Given the description of an element on the screen output the (x, y) to click on. 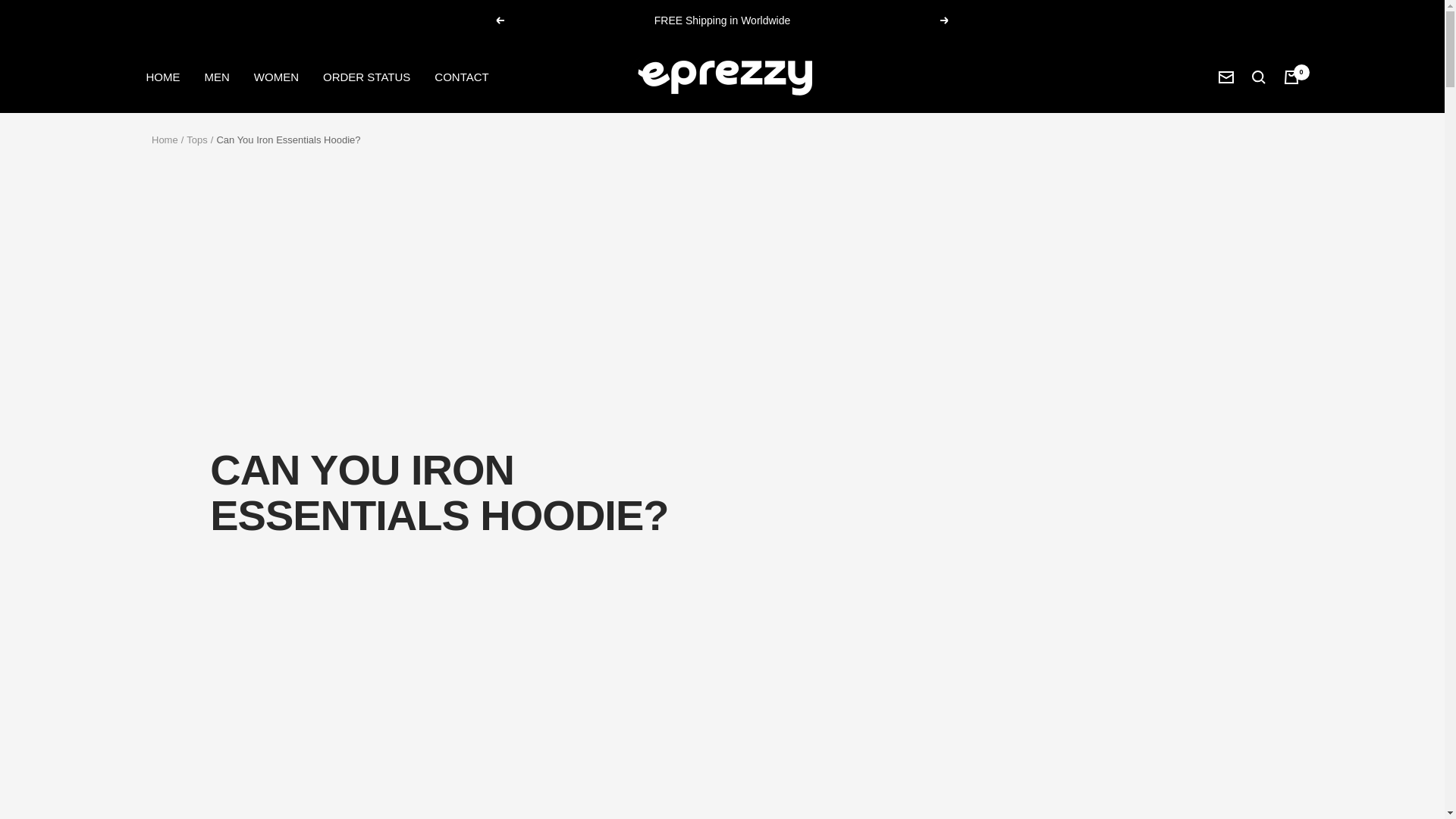
CONTACT (460, 76)
Next (944, 20)
ORDER STATUS (366, 76)
WOMEN (275, 76)
HOME (162, 76)
Tops (196, 139)
0 (1290, 76)
Previous (499, 20)
Home (164, 139)
MEN (217, 76)
Eprezzy (721, 76)
Newsletter (1225, 77)
